Given the description of an element on the screen output the (x, y) to click on. 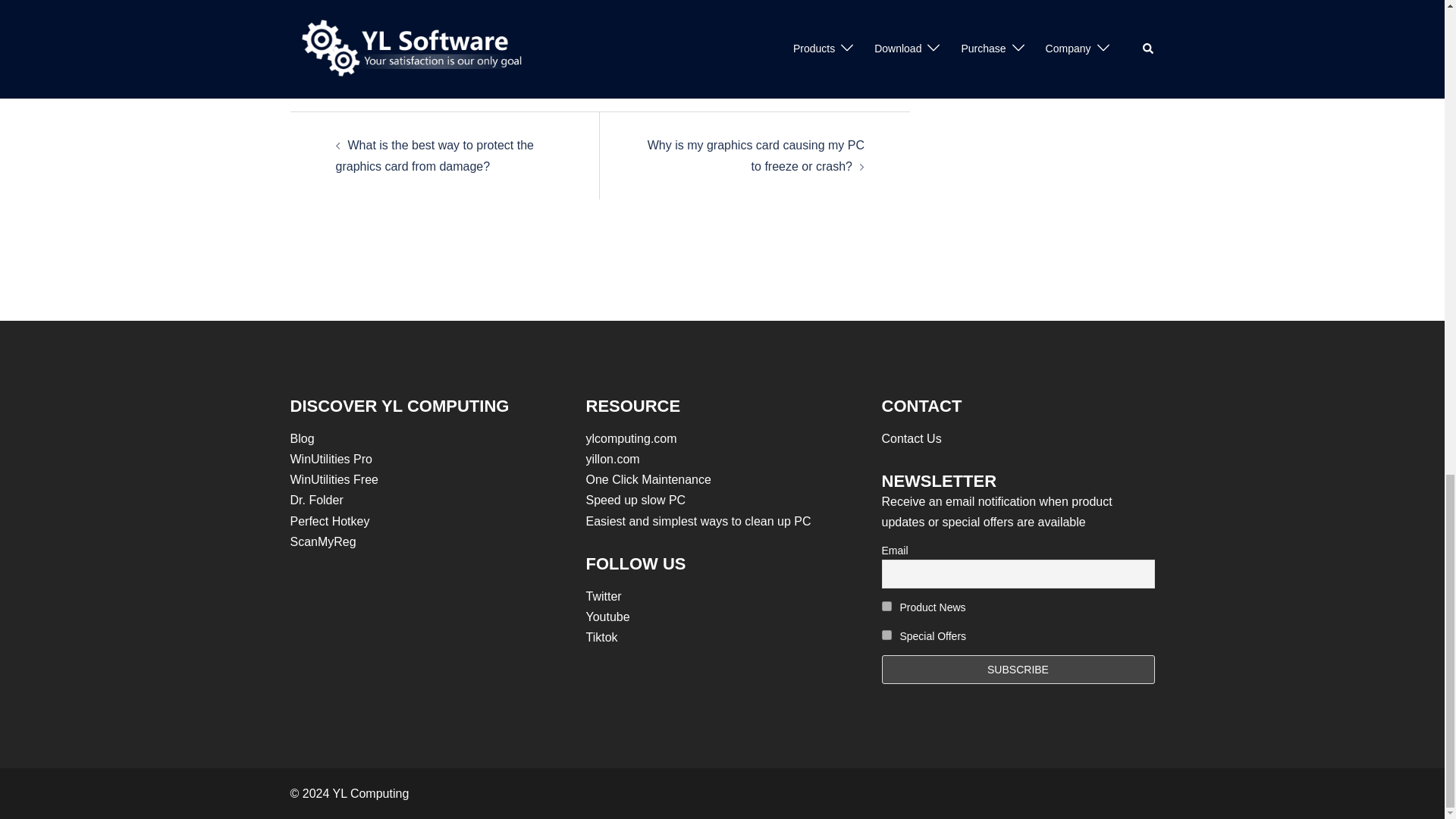
2 (885, 634)
Subscribe (1017, 669)
1 (885, 605)
